Given the description of an element on the screen output the (x, y) to click on. 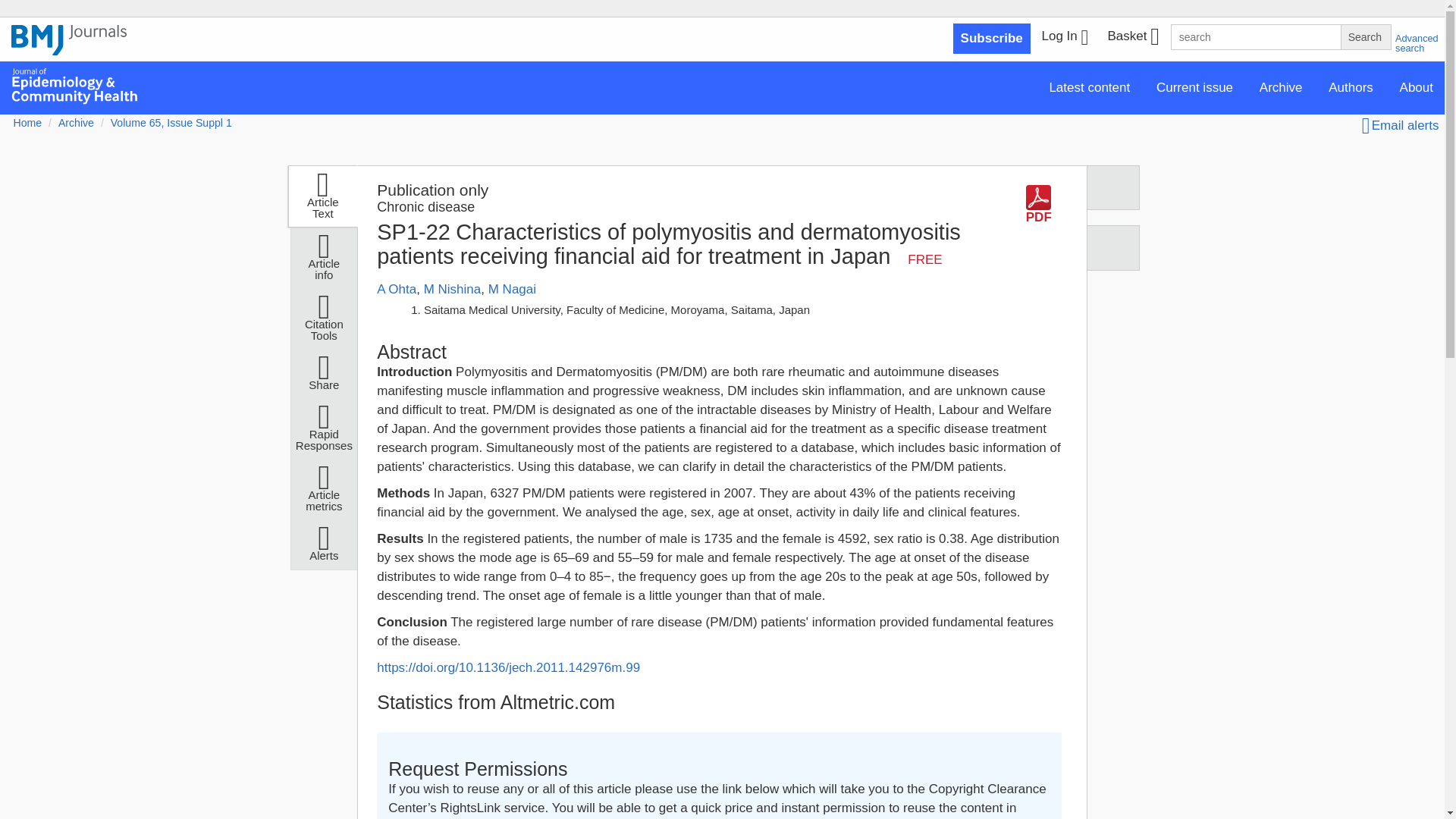
You have access (924, 259)
Advanced search (1416, 43)
Authors (1350, 87)
Log In (1064, 38)
Basket (1132, 38)
BMJ Journals (68, 47)
Archive (1280, 87)
Subscribe (991, 38)
Latest content (1088, 87)
